Given the description of an element on the screen output the (x, y) to click on. 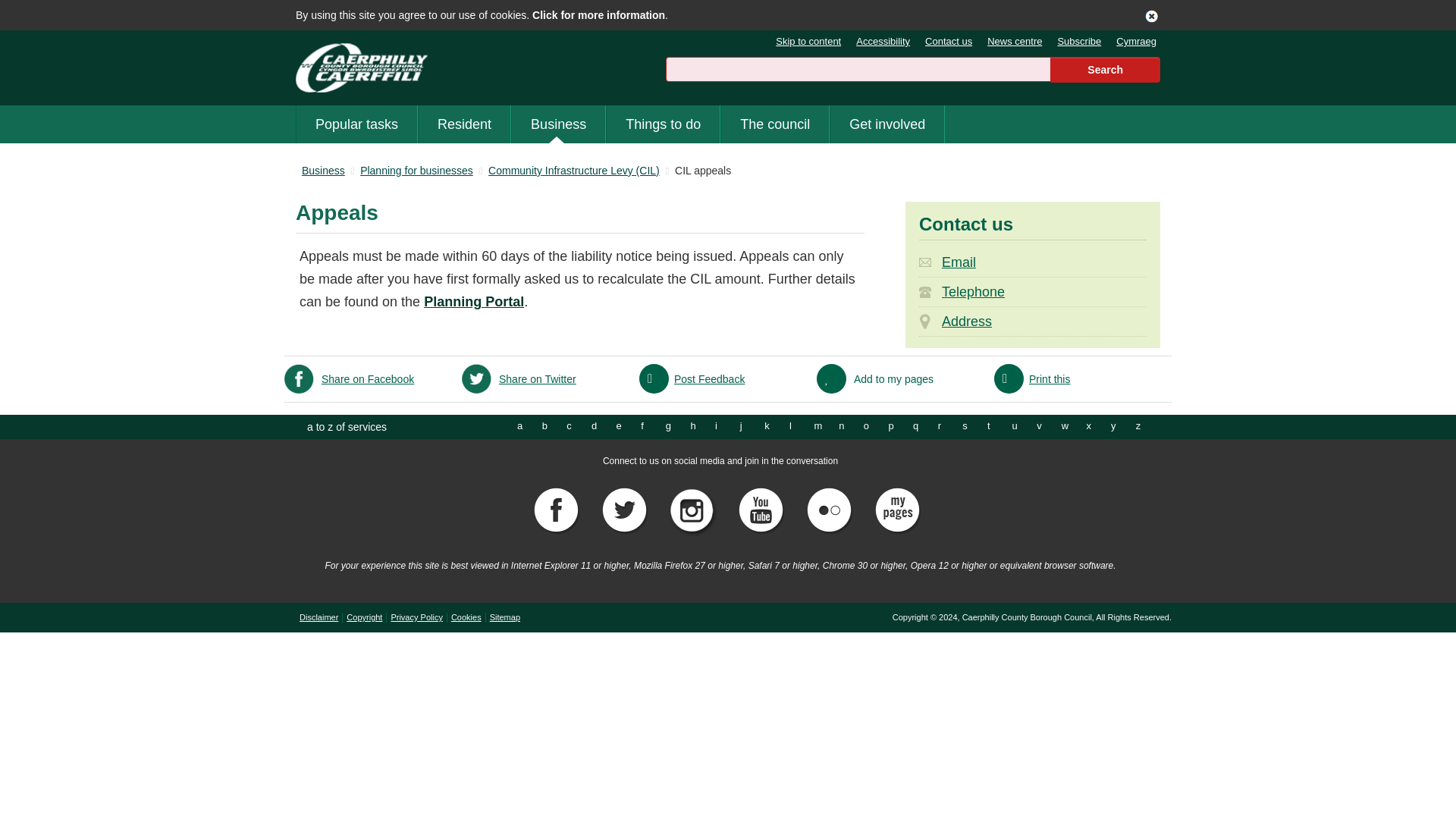
Things to do (663, 124)
Business (323, 170)
Accessibility (875, 41)
Contact us (941, 41)
Planning for businesses (416, 170)
Resident (465, 124)
Get involved (886, 124)
Email (1032, 262)
Search (1105, 69)
The council (774, 124)
Search (1105, 69)
Skip to content (800, 41)
Business (558, 124)
Subscribe (1071, 41)
Click for more information (598, 15)
